Given the description of an element on the screen output the (x, y) to click on. 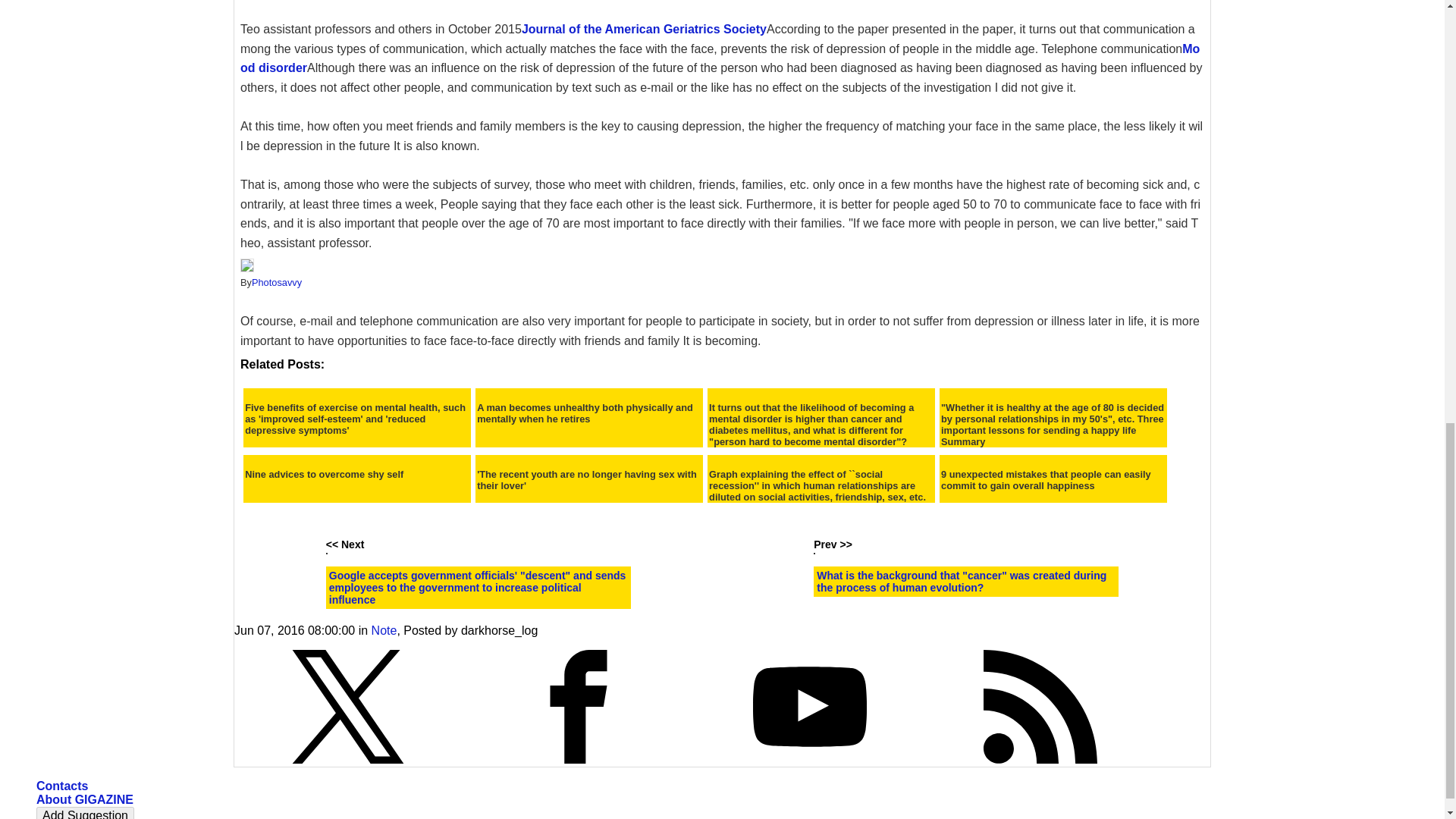
Mood disorder (719, 58)
Journal of the American Geriatrics Society (644, 29)
Photosavvy (276, 282)
